Given the description of an element on the screen output the (x, y) to click on. 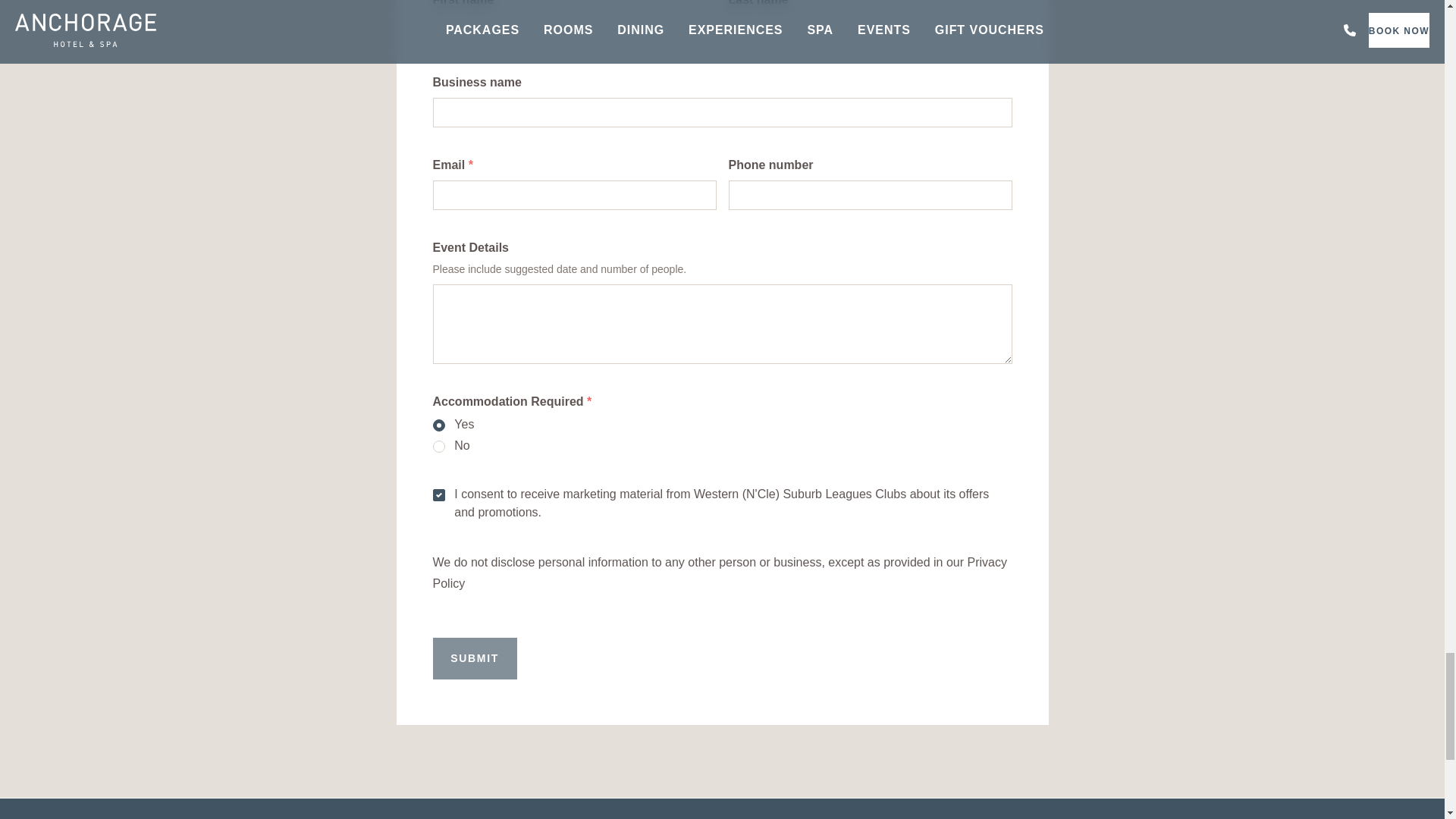
1 (441, 490)
SUBMIT (474, 658)
Yes (441, 421)
No (441, 442)
